Given the description of an element on the screen output the (x, y) to click on. 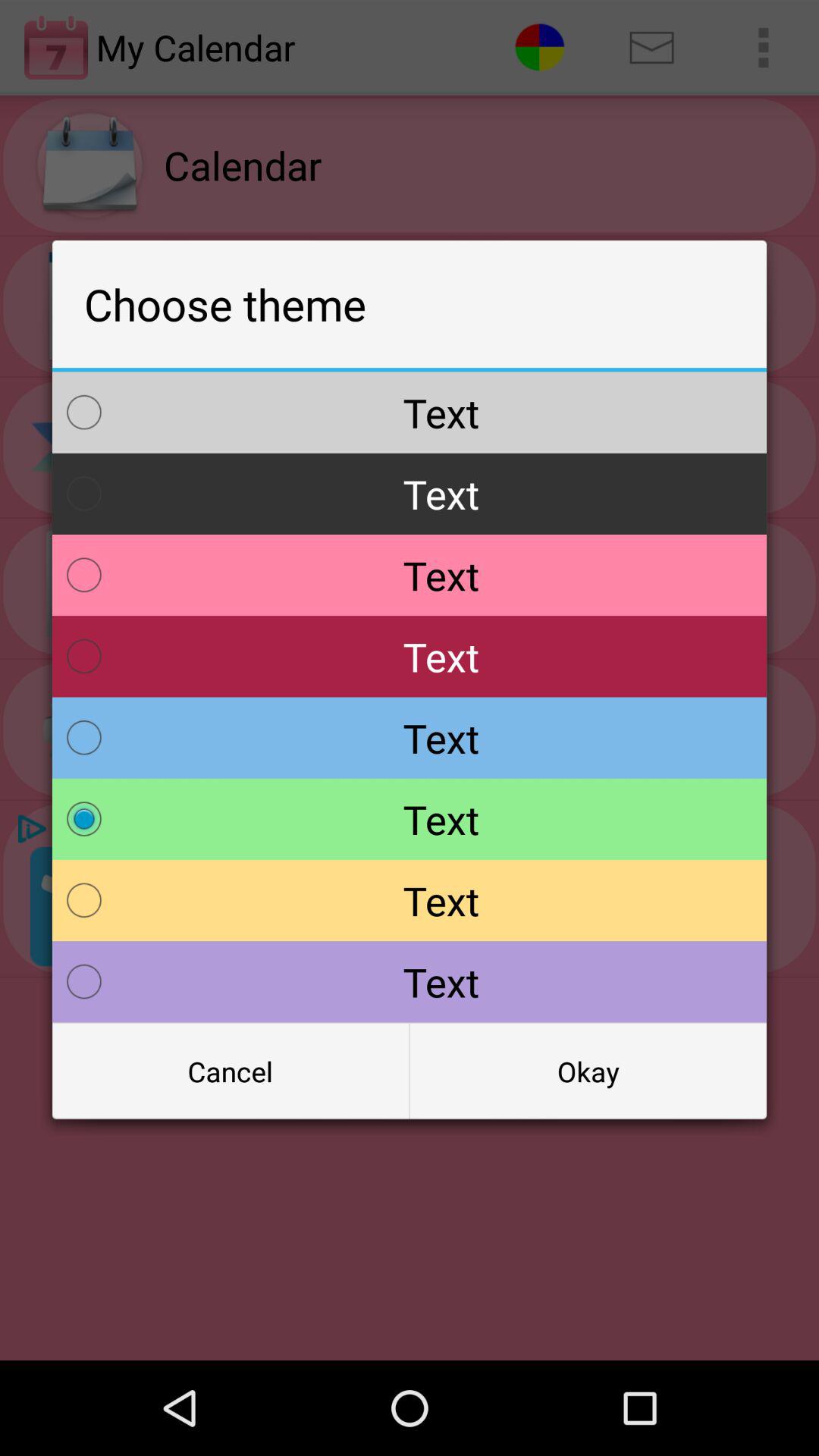
launch the radio button below the text (588, 1071)
